Given the description of an element on the screen output the (x, y) to click on. 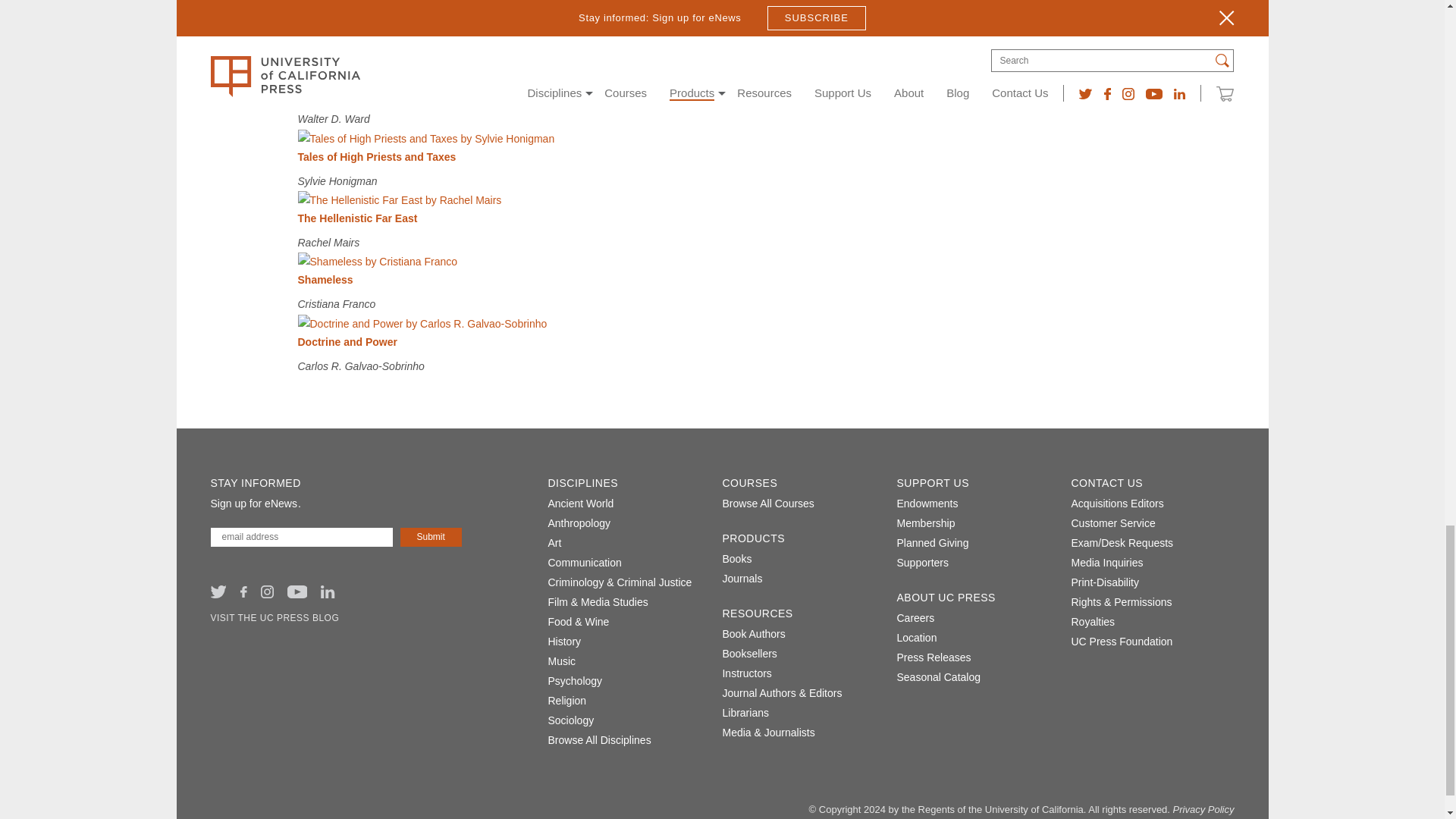
Submit (430, 537)
